Given the description of an element on the screen output the (x, y) to click on. 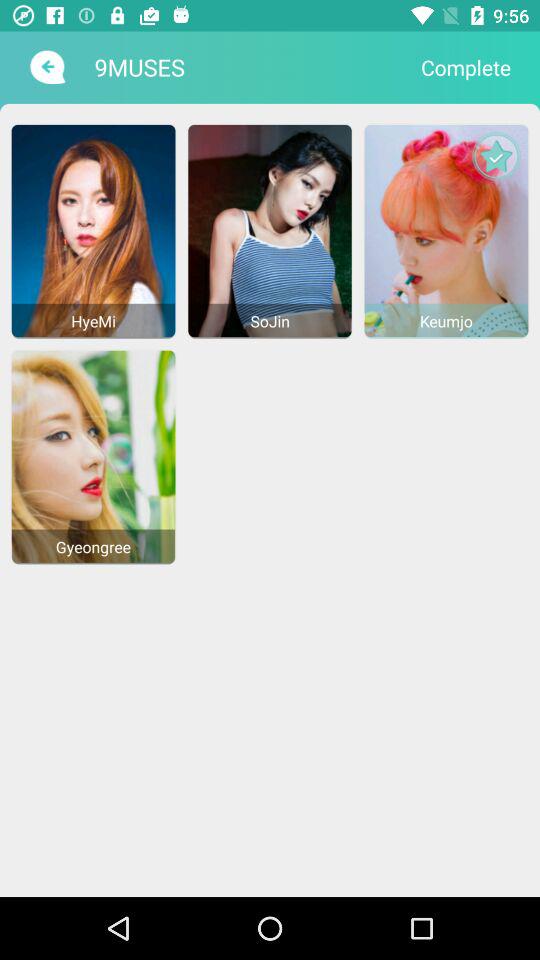
tap the item next to 9muses icon (45, 67)
